Given the description of an element on the screen output the (x, y) to click on. 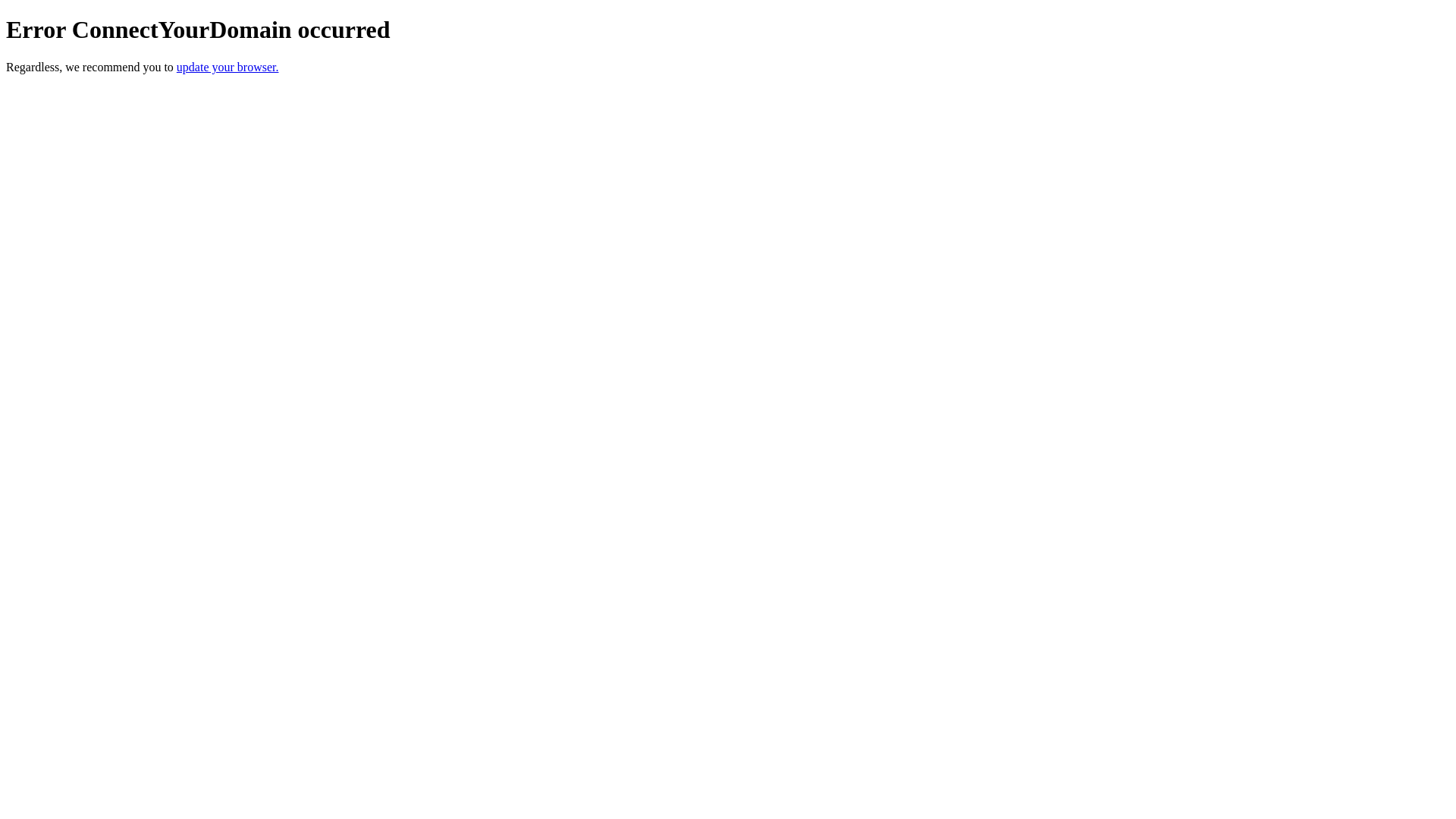
update your browser. Element type: text (227, 66)
